Given the description of an element on the screen output the (x, y) to click on. 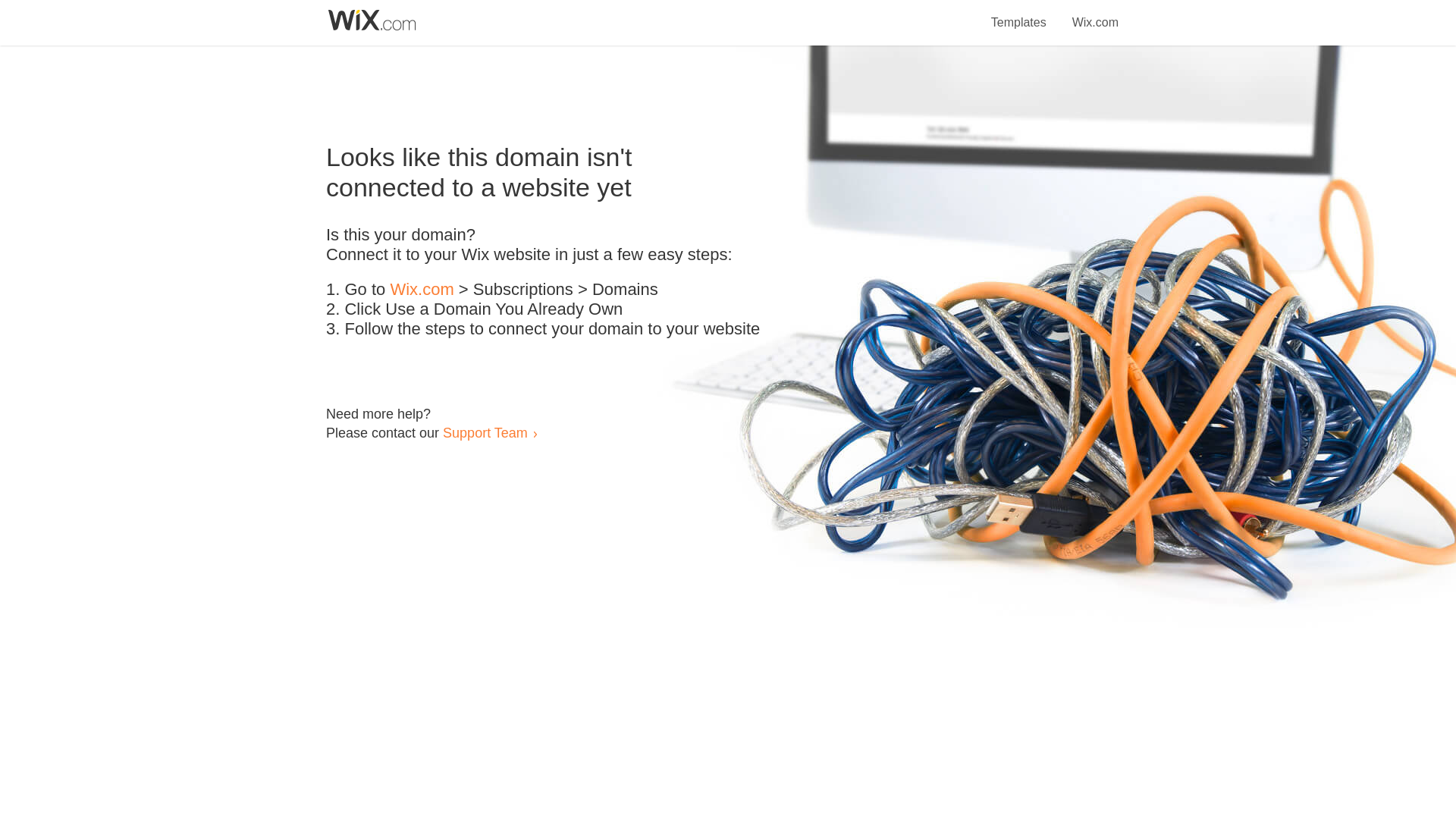
Wix.com (421, 289)
Templates (1018, 14)
Wix.com (1095, 14)
Support Team (484, 432)
